Given the description of an element on the screen output the (x, y) to click on. 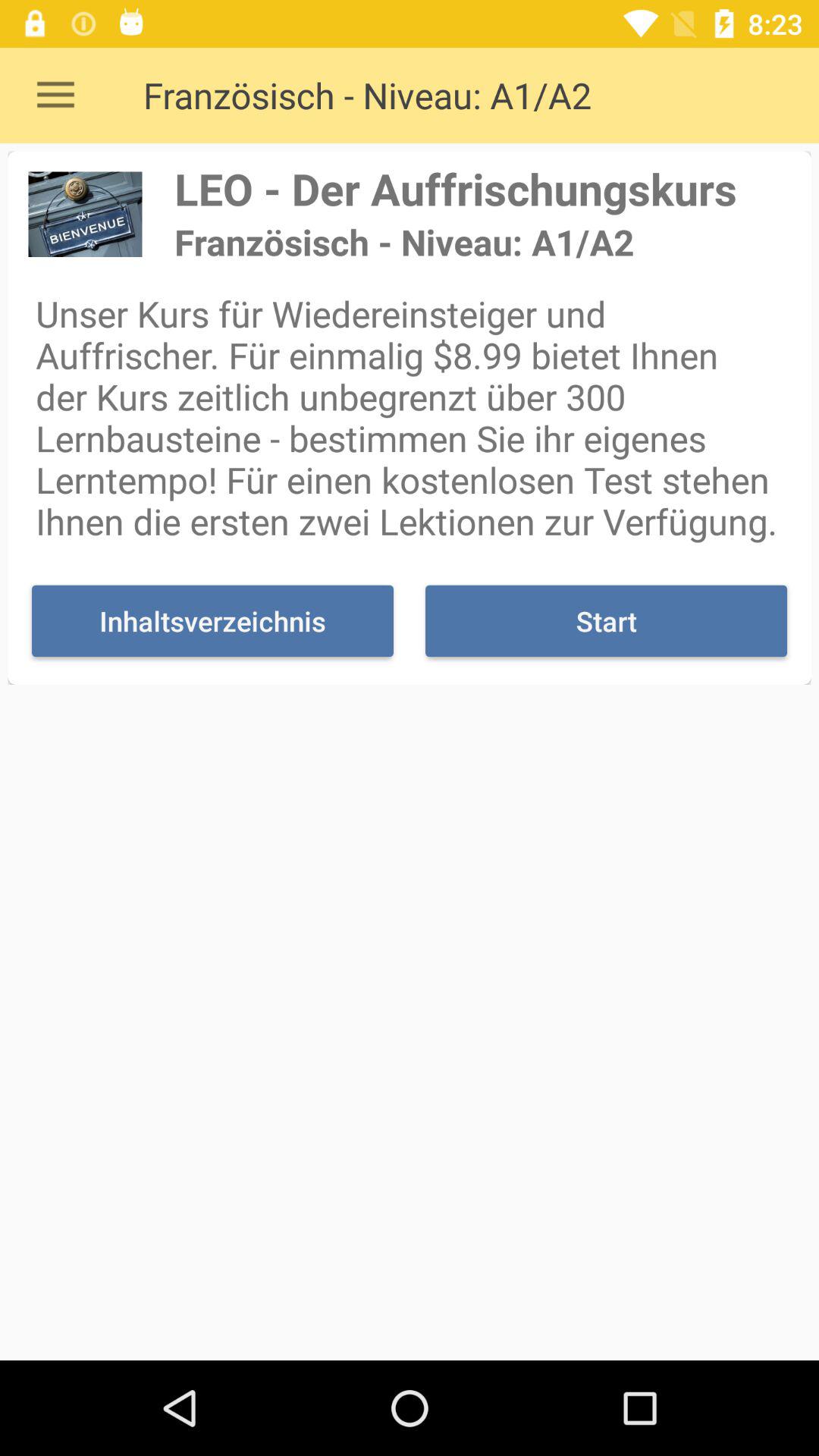
click the start (606, 620)
